Given the description of an element on the screen output the (x, y) to click on. 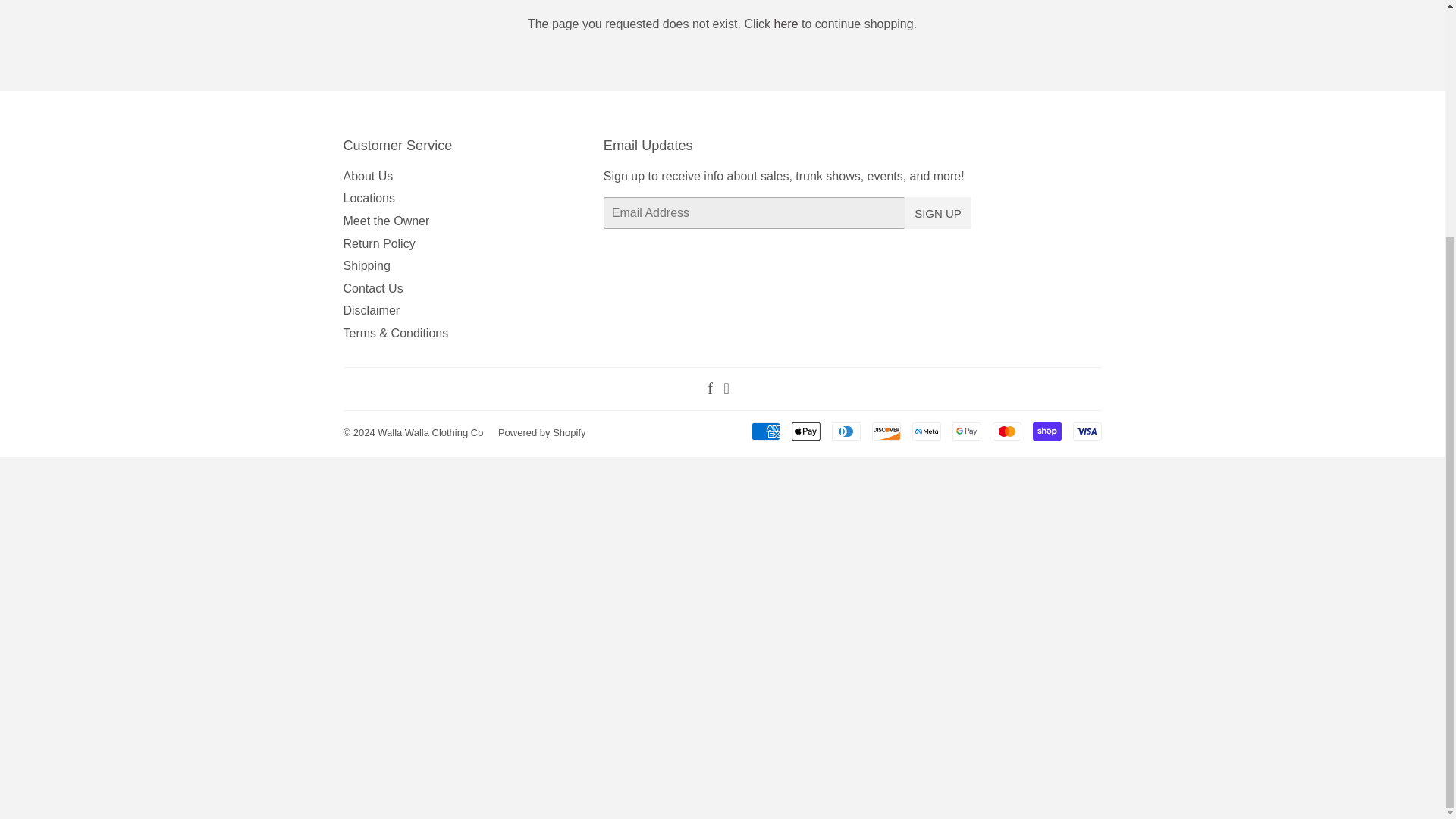
Meta Pay (925, 431)
Apple Pay (806, 431)
Visa (1085, 431)
Diners Club (845, 431)
Google Pay (966, 431)
Shop Pay (1046, 431)
American Express (764, 431)
Discover (886, 431)
Mastercard (1005, 431)
